Given the description of an element on the screen output the (x, y) to click on. 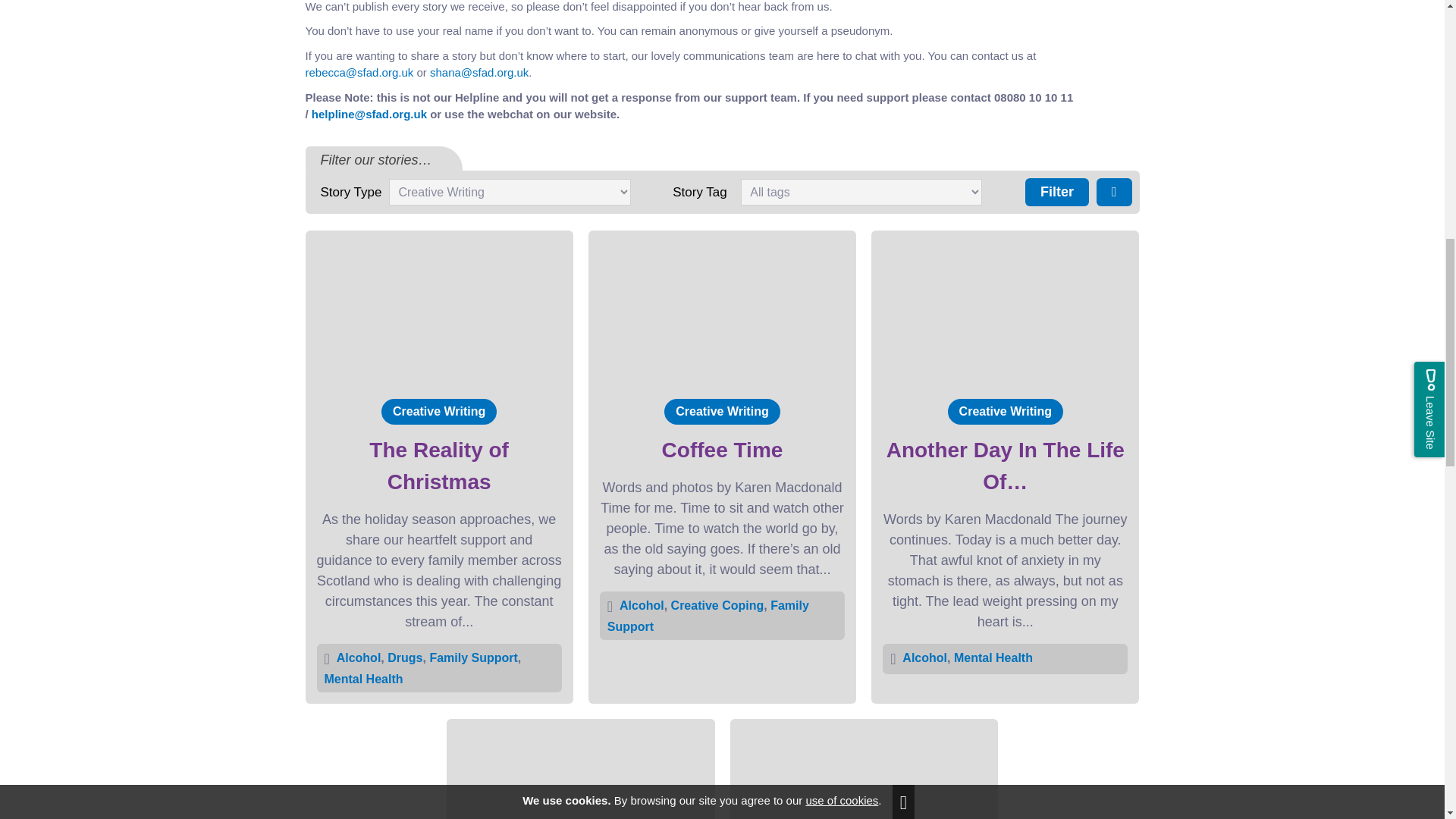
Drugs (406, 657)
Mental Health (363, 678)
Tagged under : 'Alcohol' (641, 604)
Family Support (475, 657)
Tagged under : 'Drugs' (404, 657)
Alcohol (643, 604)
Clear Filters (1114, 192)
Tagged under : 'Family Support' (472, 657)
Alcohol (360, 657)
Tagged under : 'Alcohol' (358, 657)
